Given the description of an element on the screen output the (x, y) to click on. 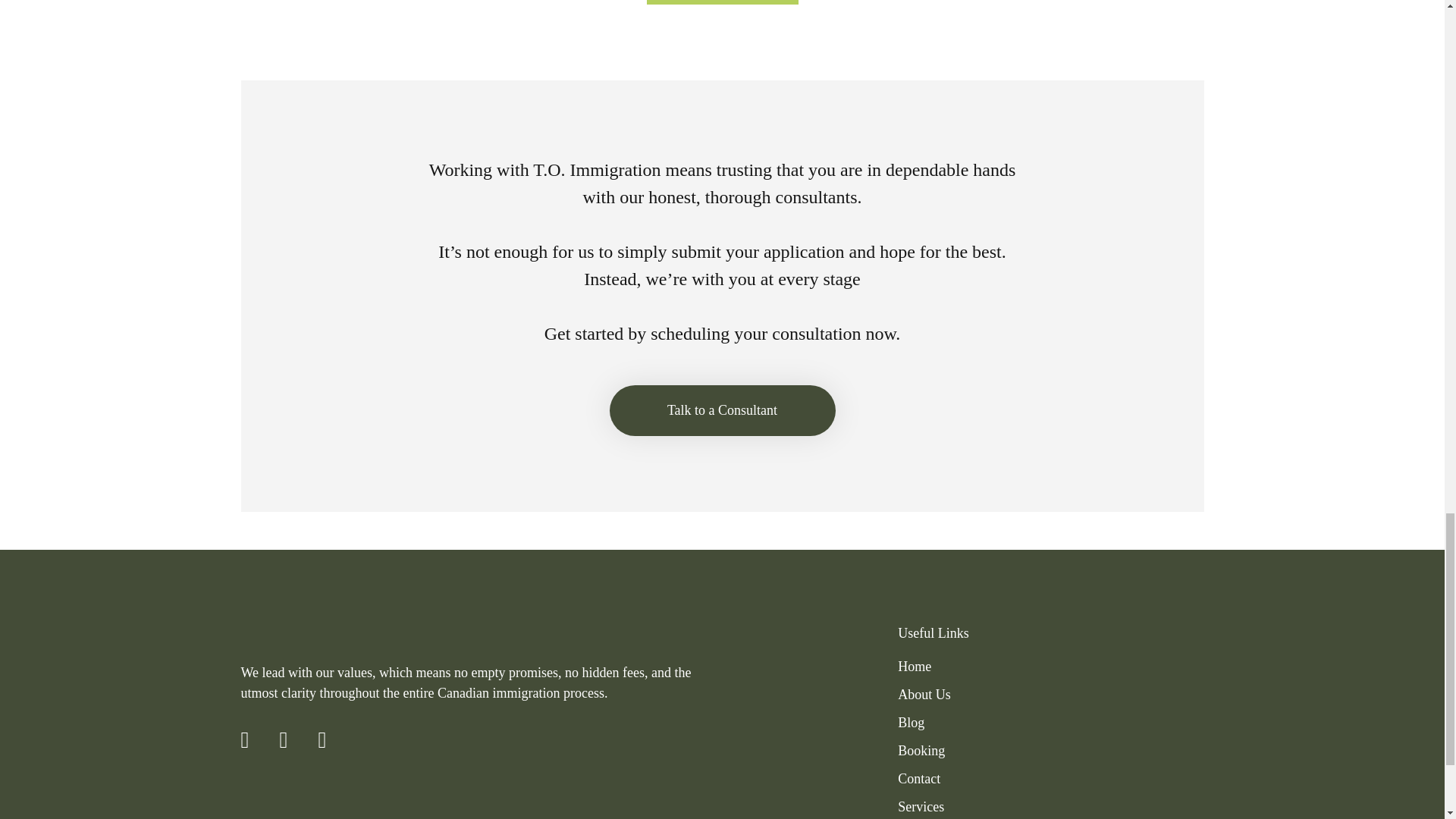
Booking (921, 750)
Home (914, 666)
Contact (919, 778)
Blog (911, 722)
Services (920, 806)
About Us (924, 694)
Talk to a Consultant (722, 409)
